Given the description of an element on the screen output the (x, y) to click on. 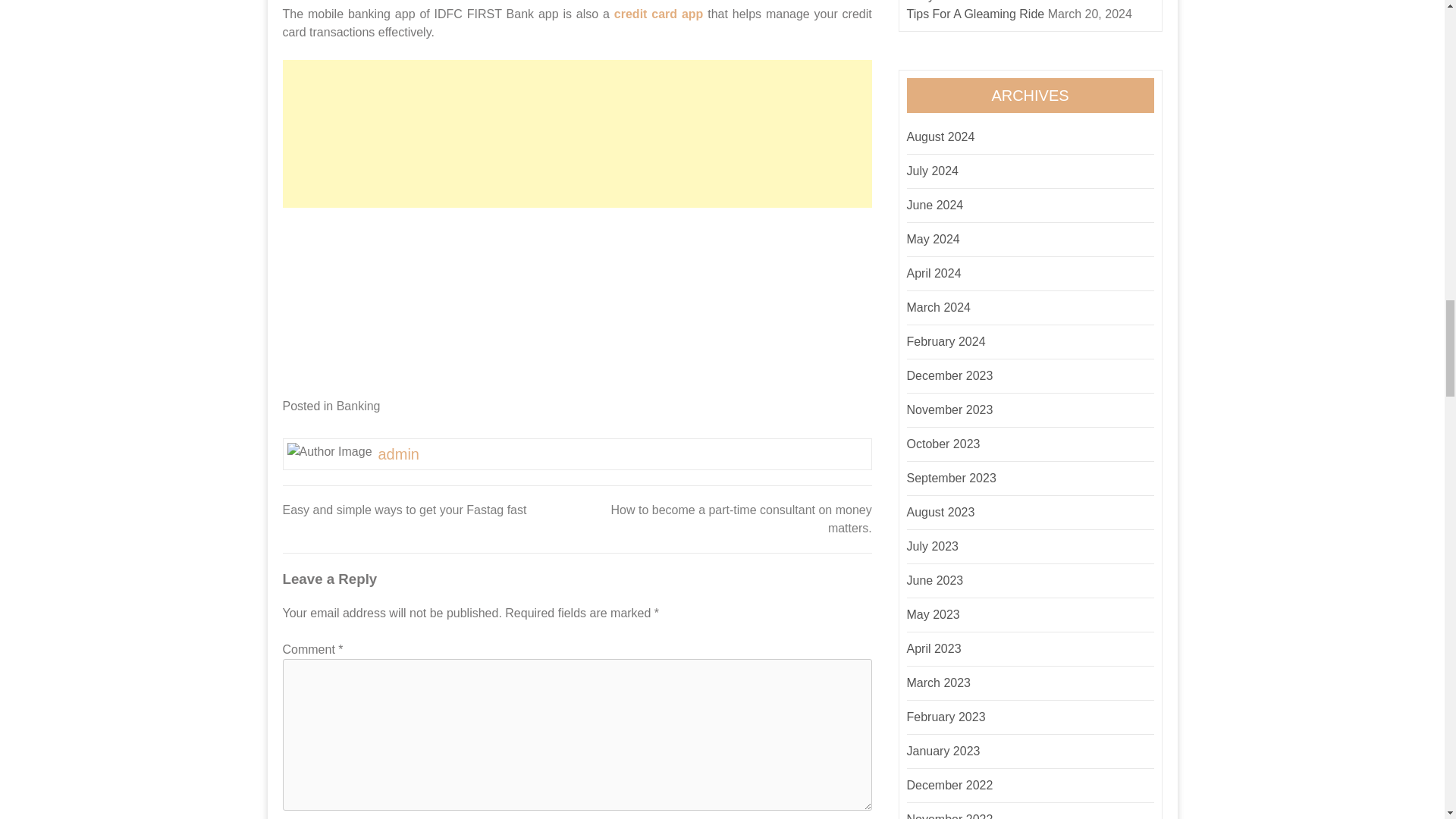
April 2024 (933, 273)
May 2024 (933, 238)
Author Image (328, 452)
Easy and simple ways to get your Fastag fast (403, 509)
August 2024 (941, 136)
How to become a part-time consultant on money matters. (741, 518)
June 2024 (935, 205)
credit card app (658, 13)
Banking (358, 405)
